Given the description of an element on the screen output the (x, y) to click on. 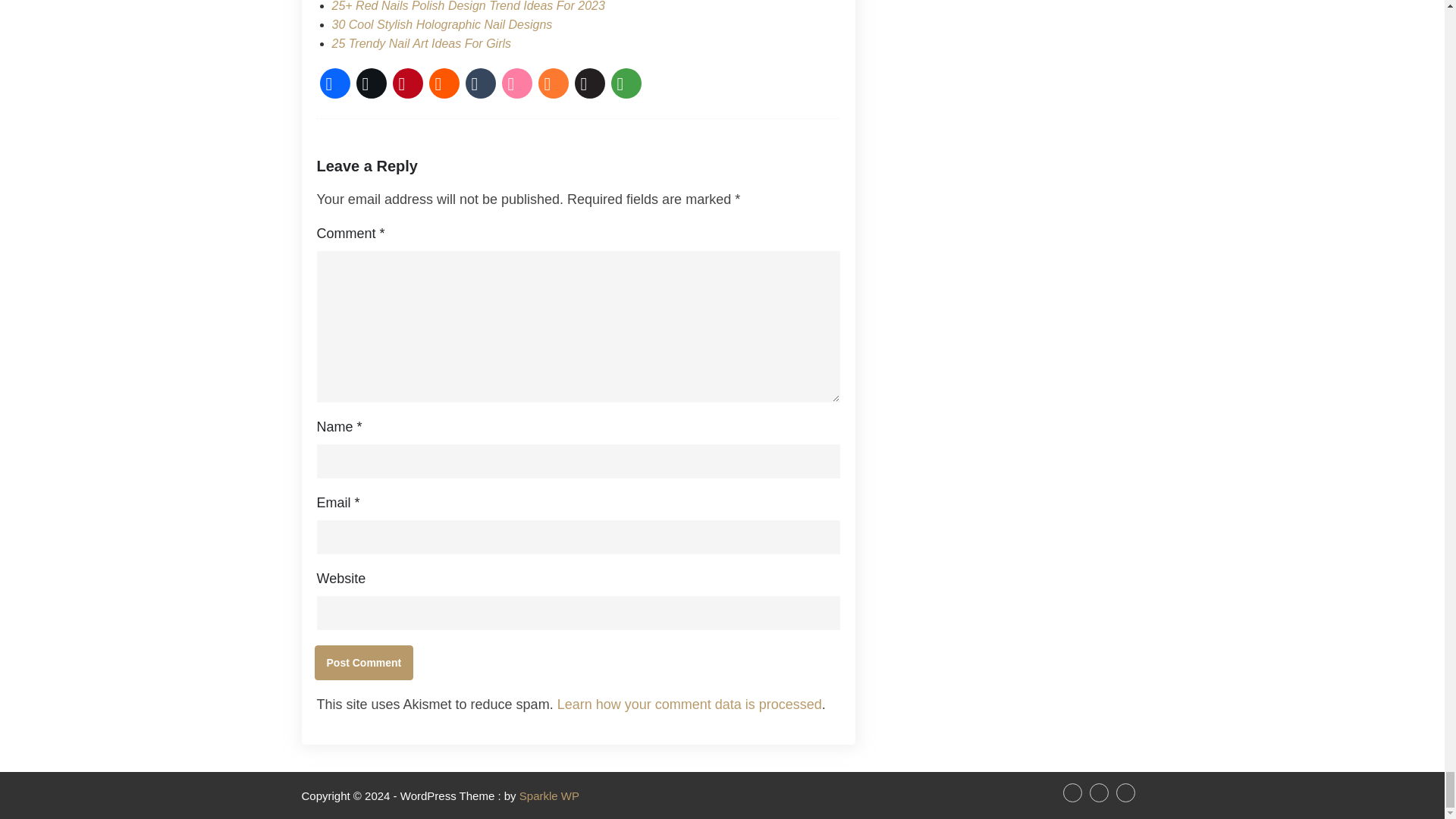
Reddit (444, 83)
Facebook (335, 83)
We Heart It (517, 83)
Blogger Post (553, 83)
Tumblr (481, 83)
Post Comment (363, 662)
More Options (626, 83)
Buffer (590, 83)
Pinterest (408, 83)
